Given the description of an element on the screen output the (x, y) to click on. 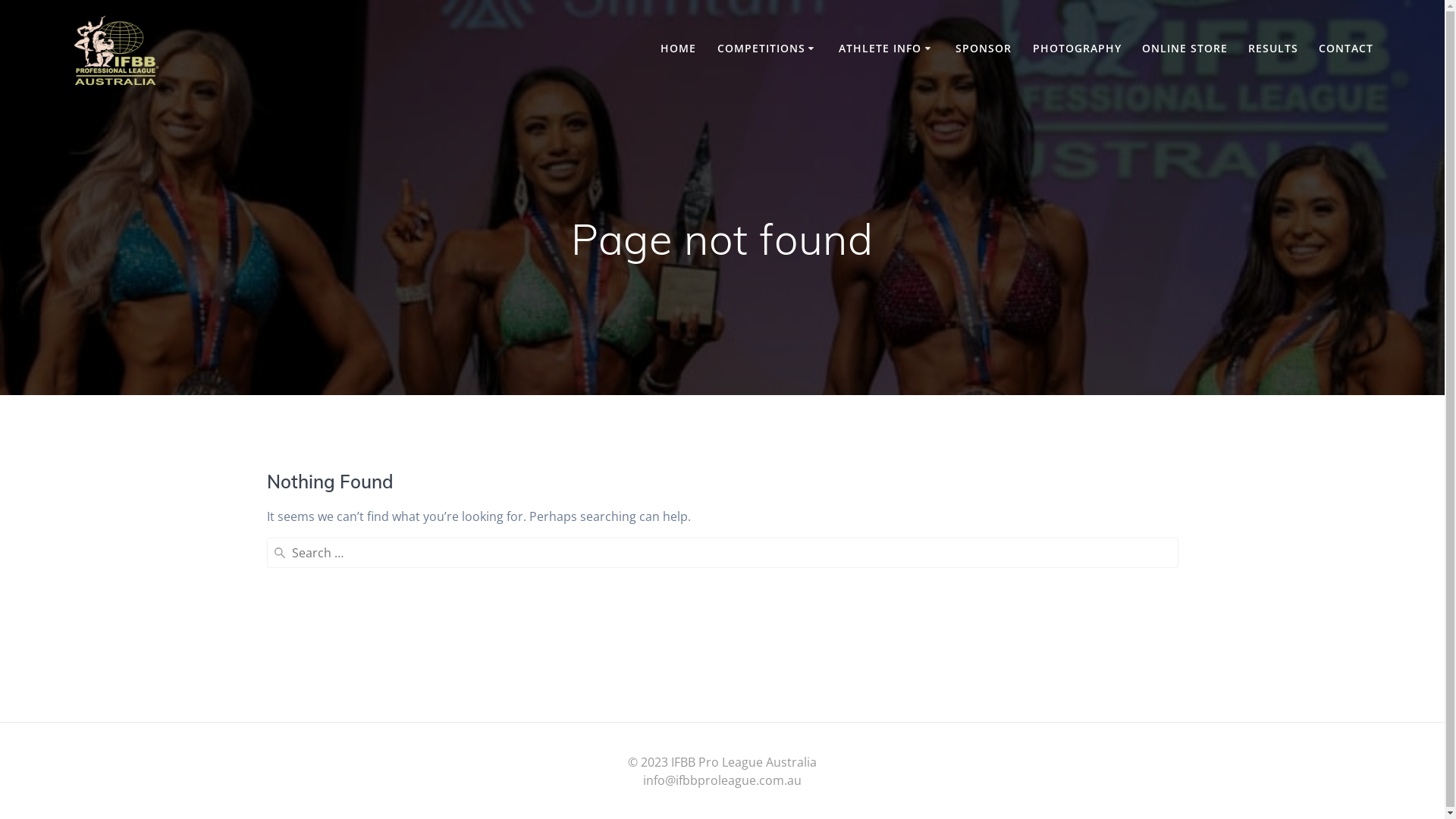
RESULTS Element type: text (1273, 49)
SPONSOR Element type: text (983, 49)
CONTACT Element type: text (1345, 49)
ONLINE STORE Element type: text (1184, 49)
ATHLETE INFO Element type: text (886, 49)
PHOTOGRAPHY Element type: text (1076, 49)
HOME Element type: text (678, 49)
COMPETITIONS Element type: text (768, 49)
